Given the description of an element on the screen output the (x, y) to click on. 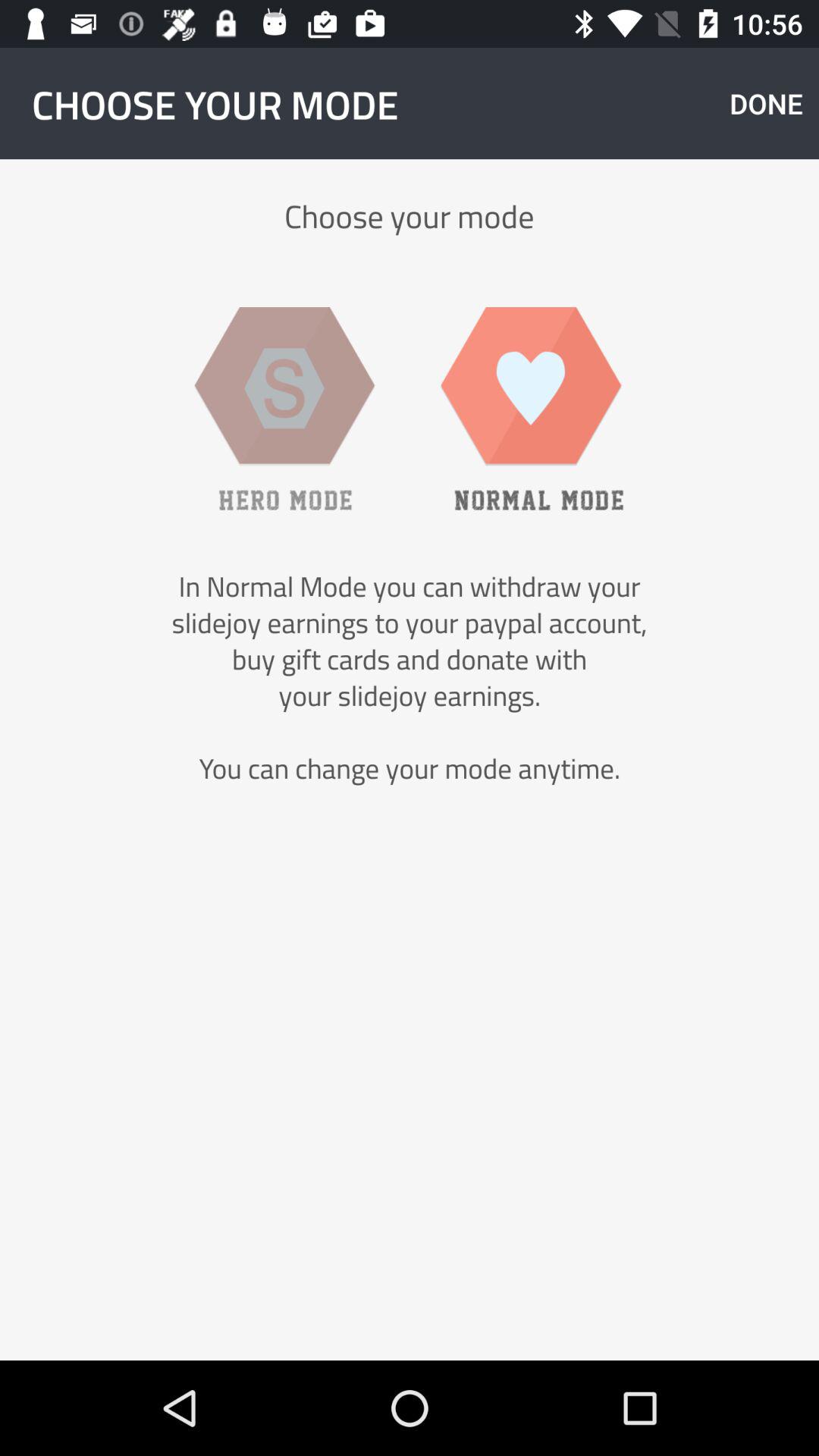
select item above the in normal mode item (284, 408)
